Given the description of an element on the screen output the (x, y) to click on. 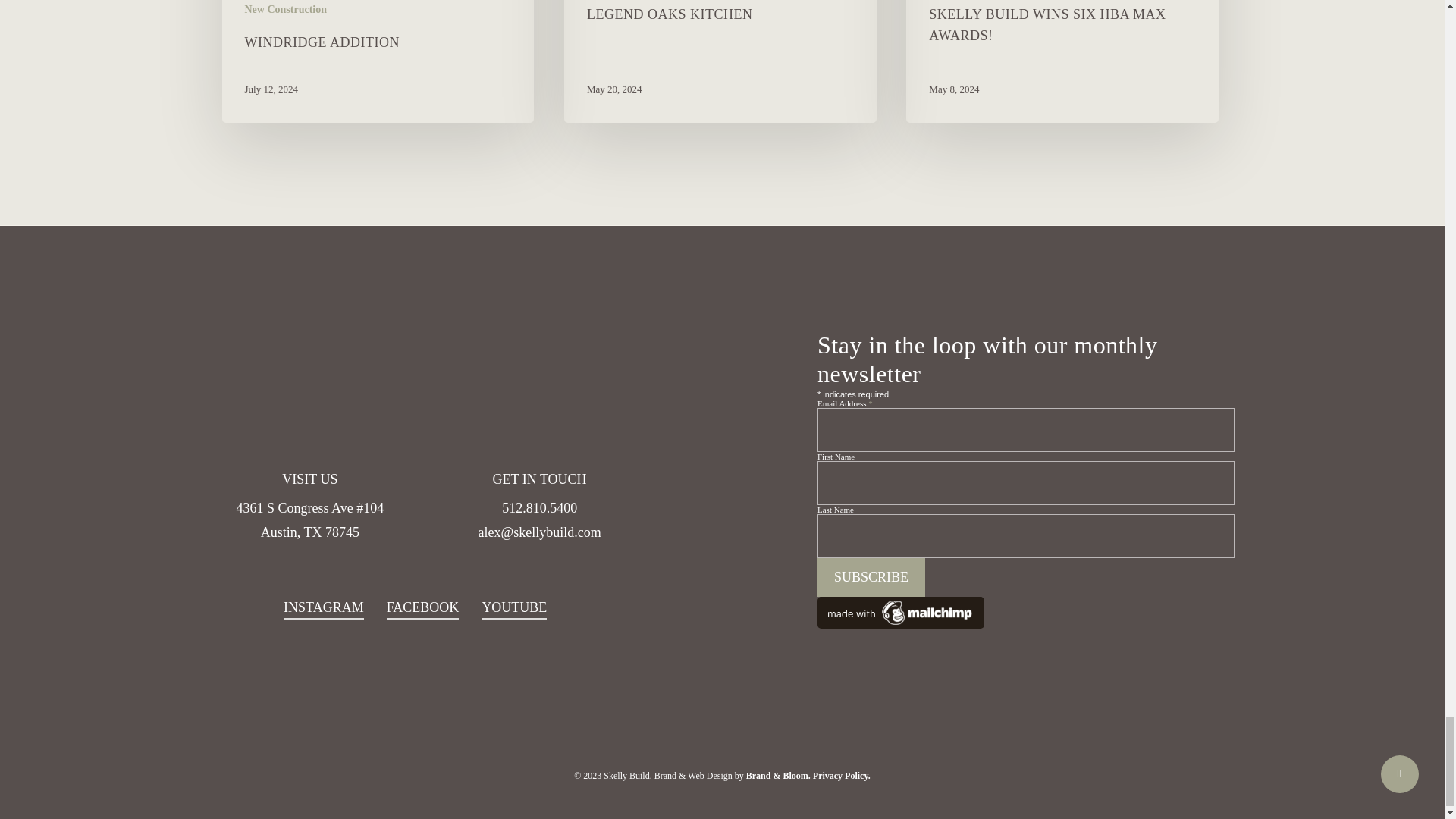
Mailchimp - email marketing made easy and fun (1025, 612)
Subscribe (870, 577)
New Construction (285, 9)
